Given the description of an element on the screen output the (x, y) to click on. 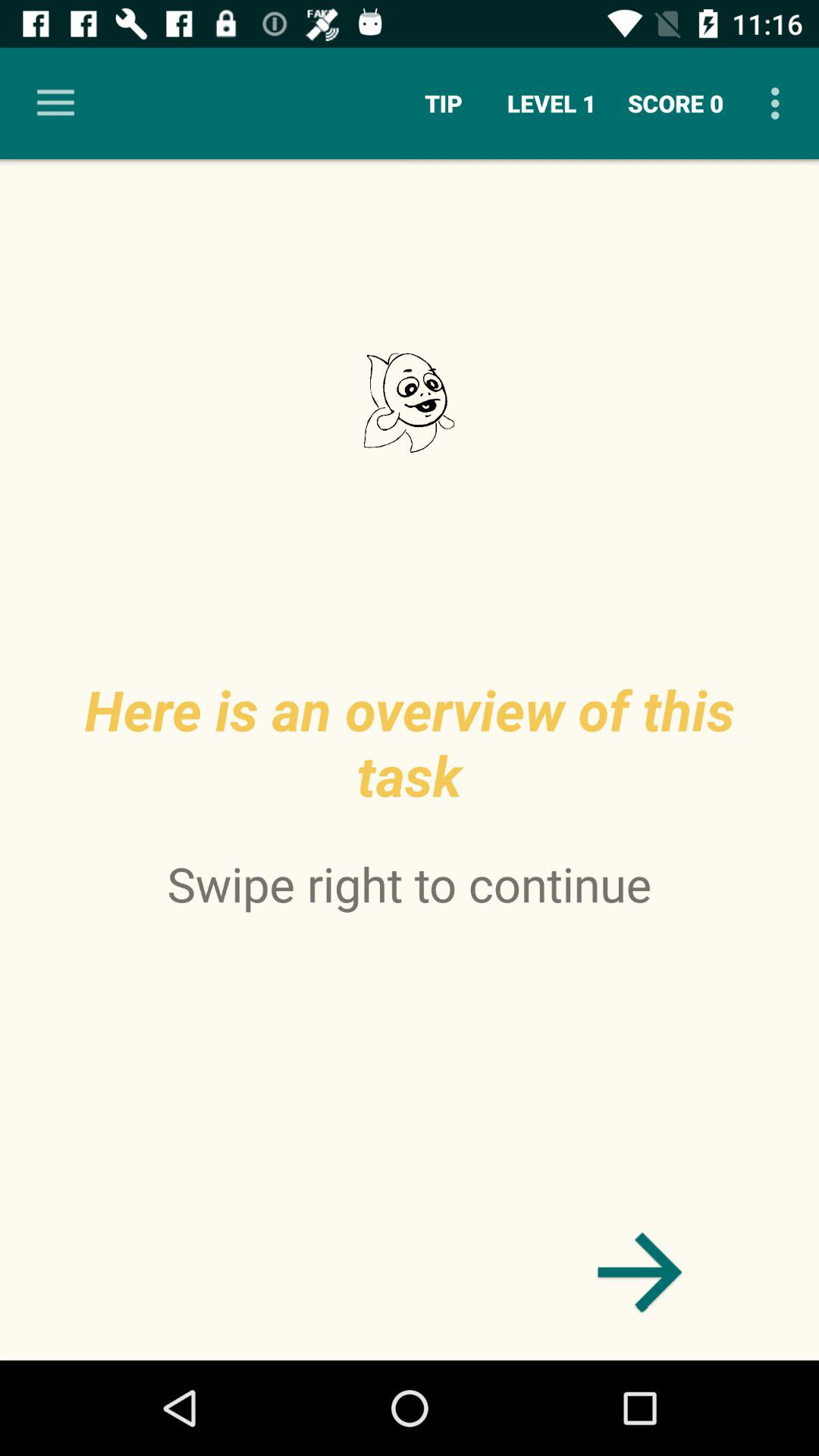
tap the item to the left of the level 1 item (443, 103)
